Given the description of an element on the screen output the (x, y) to click on. 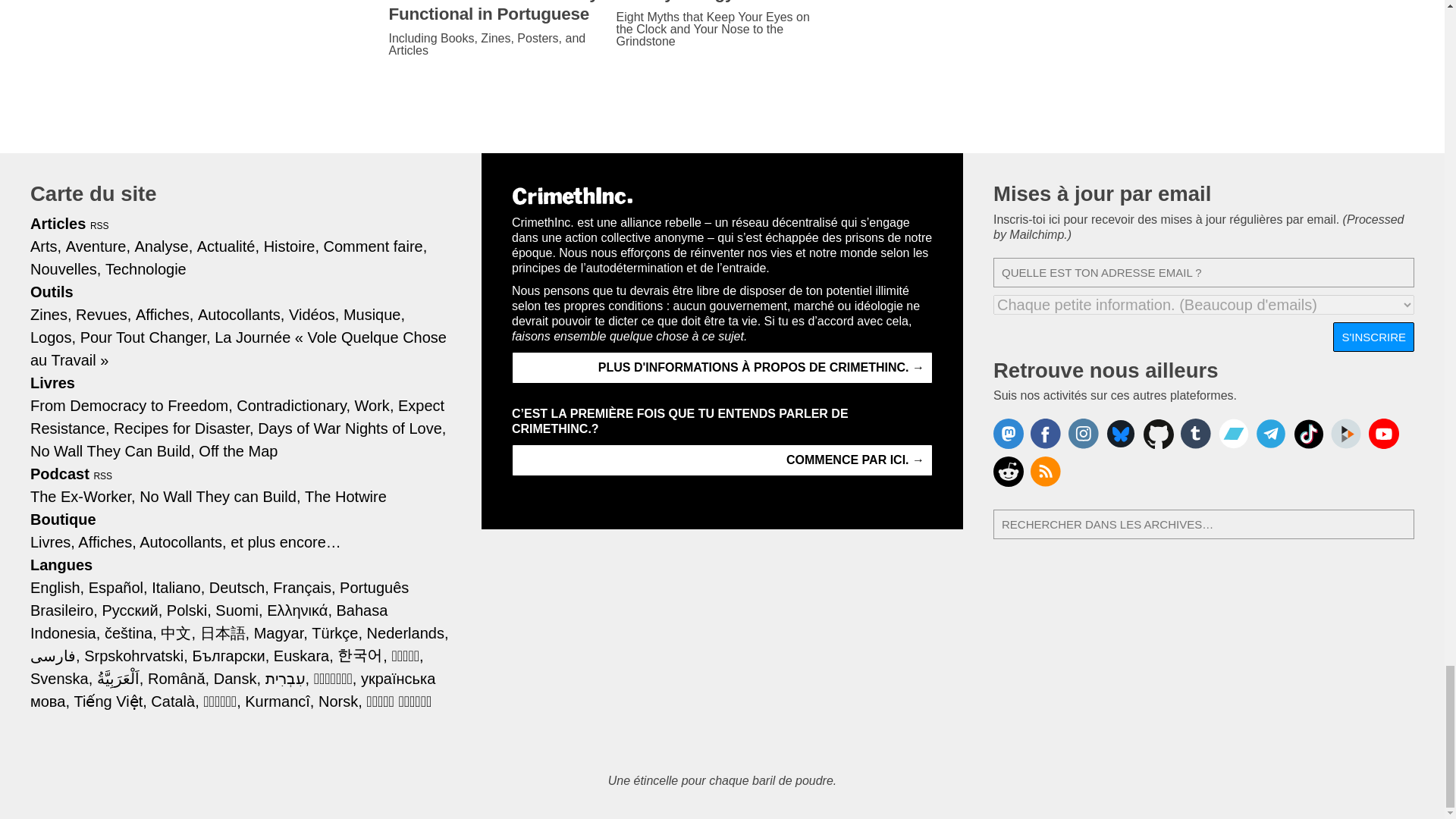
Outils (52, 291)
Nouvelles (65, 269)
Aventure (98, 246)
CrimethInc.com Now Fully Functional in Portuguese (493, 12)
Analyse (164, 246)
Articles (57, 223)
RSS (99, 225)
Histoire (290, 246)
Technologie (145, 269)
The Mythology of Work (721, 2)
Including Books, Zines, Posters, and Articles (493, 44)
Comment faire (375, 246)
Arts (45, 246)
